Given the description of an element on the screen output the (x, y) to click on. 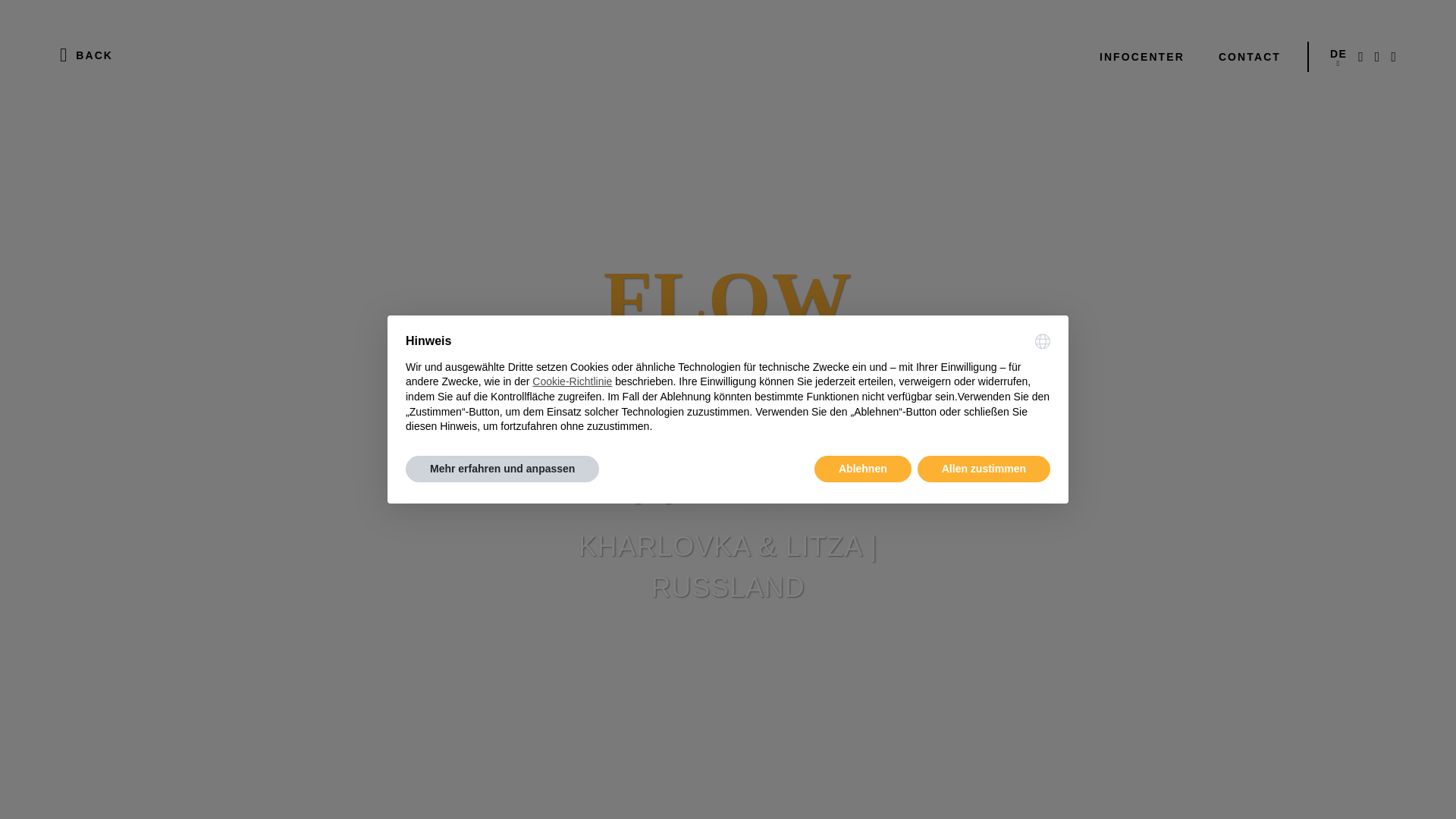
INFOCENTER (1139, 56)
CONTACT (1247, 56)
DE (1338, 56)
BACK (88, 56)
Flyfish Adventures (727, 56)
